Given the description of an element on the screen output the (x, y) to click on. 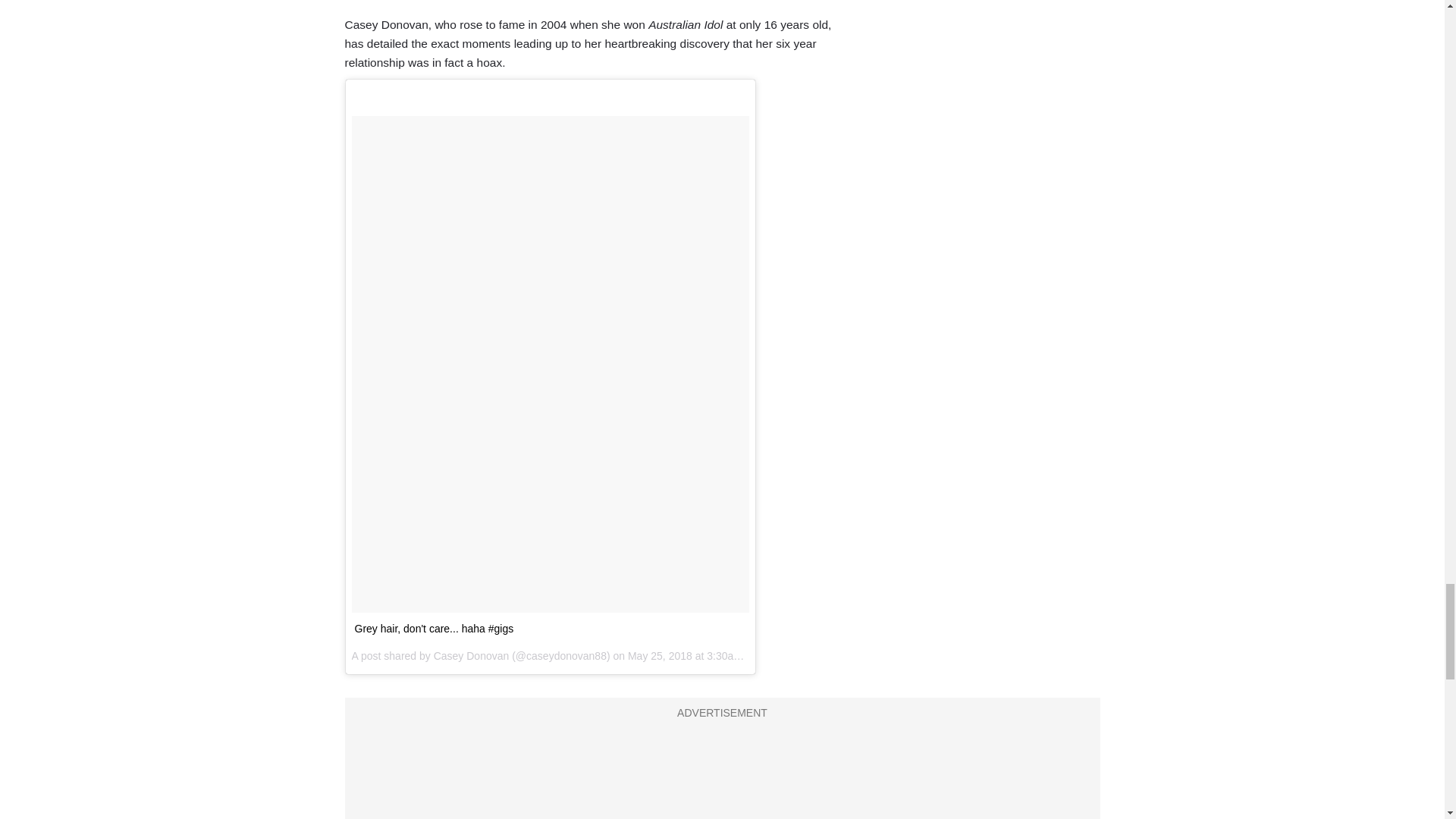
Casey Donovan (471, 655)
